Given the description of an element on the screen output the (x, y) to click on. 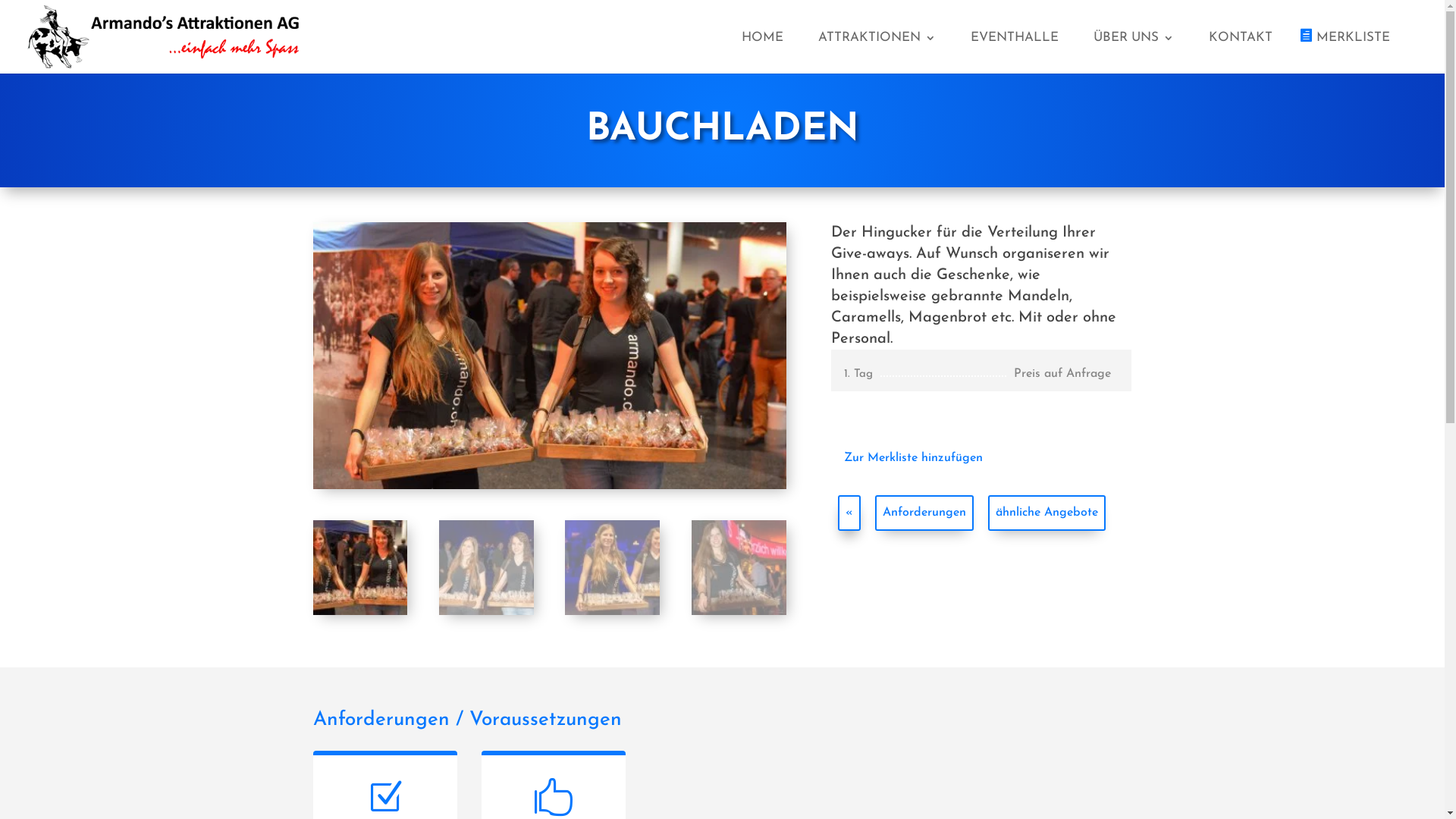
Anforderungen Element type: text (924, 512)
Bauchladen Element type: hover (548, 355)
HOME Element type: text (762, 52)
KONTAKT Element type: text (1240, 52)
Bauchladen Element type: hover (1022, 355)
MERKLISTE Element type: text (1348, 51)
EVENTHALLE Element type: text (1014, 52)
ATTRAKTIONEN Element type: text (876, 52)
